Given the description of an element on the screen output the (x, y) to click on. 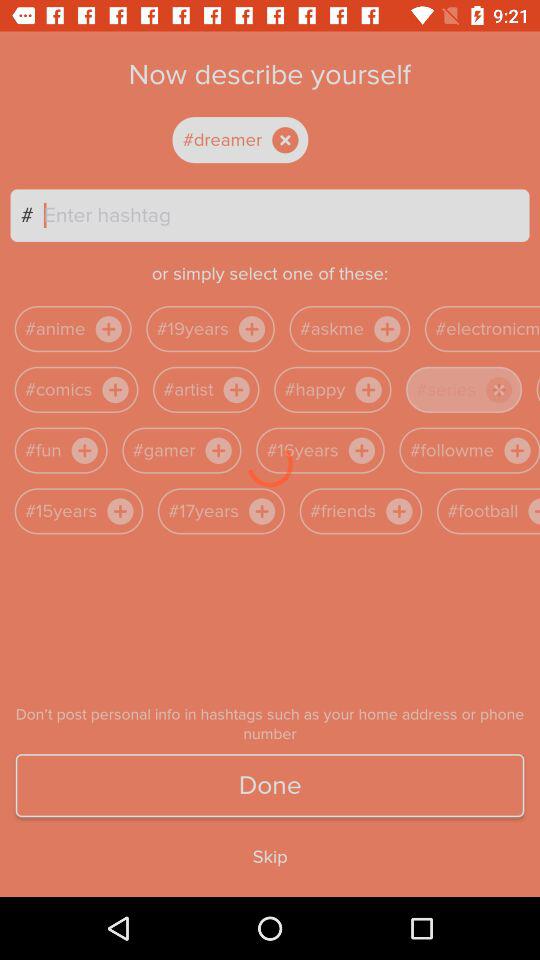
launch the icon above or simply select item (286, 215)
